Given the description of an element on the screen output the (x, y) to click on. 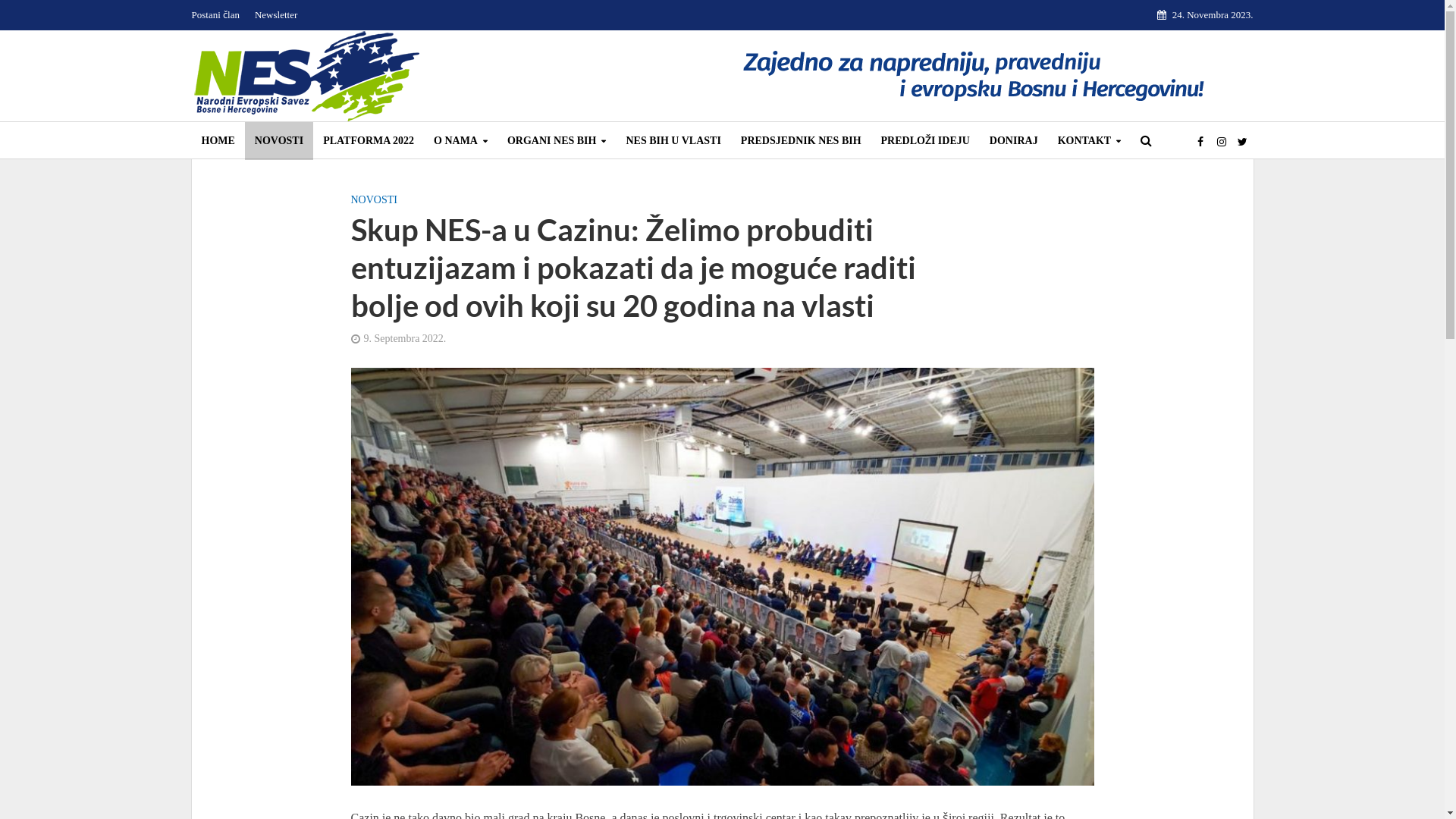
DONIRAJ Element type: text (1013, 141)
PREDSJEDNIK NES BIH Element type: text (801, 141)
NES BIH U VLASTI Element type: text (672, 141)
PLATFORMA 2022 Element type: text (368, 141)
KONTAKT Element type: text (1089, 141)
ORGANI NES BIH Element type: text (556, 141)
NOVOSTI Element type: text (373, 201)
Newsletter Element type: text (275, 15)
O NAMA Element type: text (460, 141)
HOME Element type: text (217, 141)
NOVOSTI Element type: text (278, 141)
